Given the description of an element on the screen output the (x, y) to click on. 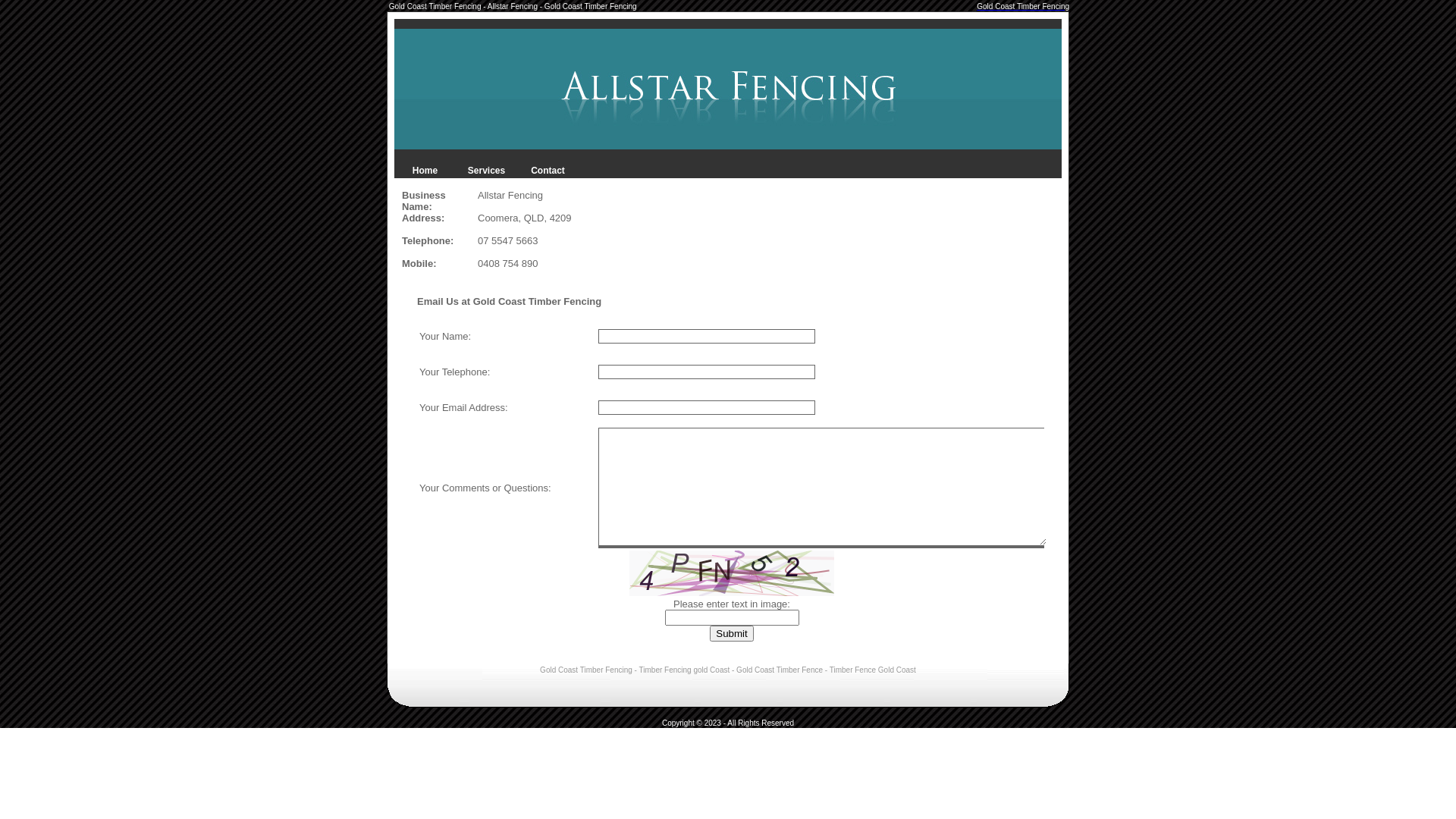
Services Element type: text (486, 170)
Submit Element type: text (731, 633)
Gold Coast Timber Fencing Element type: text (1022, 5)
Home Element type: text (424, 170)
Contact Element type: text (547, 170)
